Given the description of an element on the screen output the (x, y) to click on. 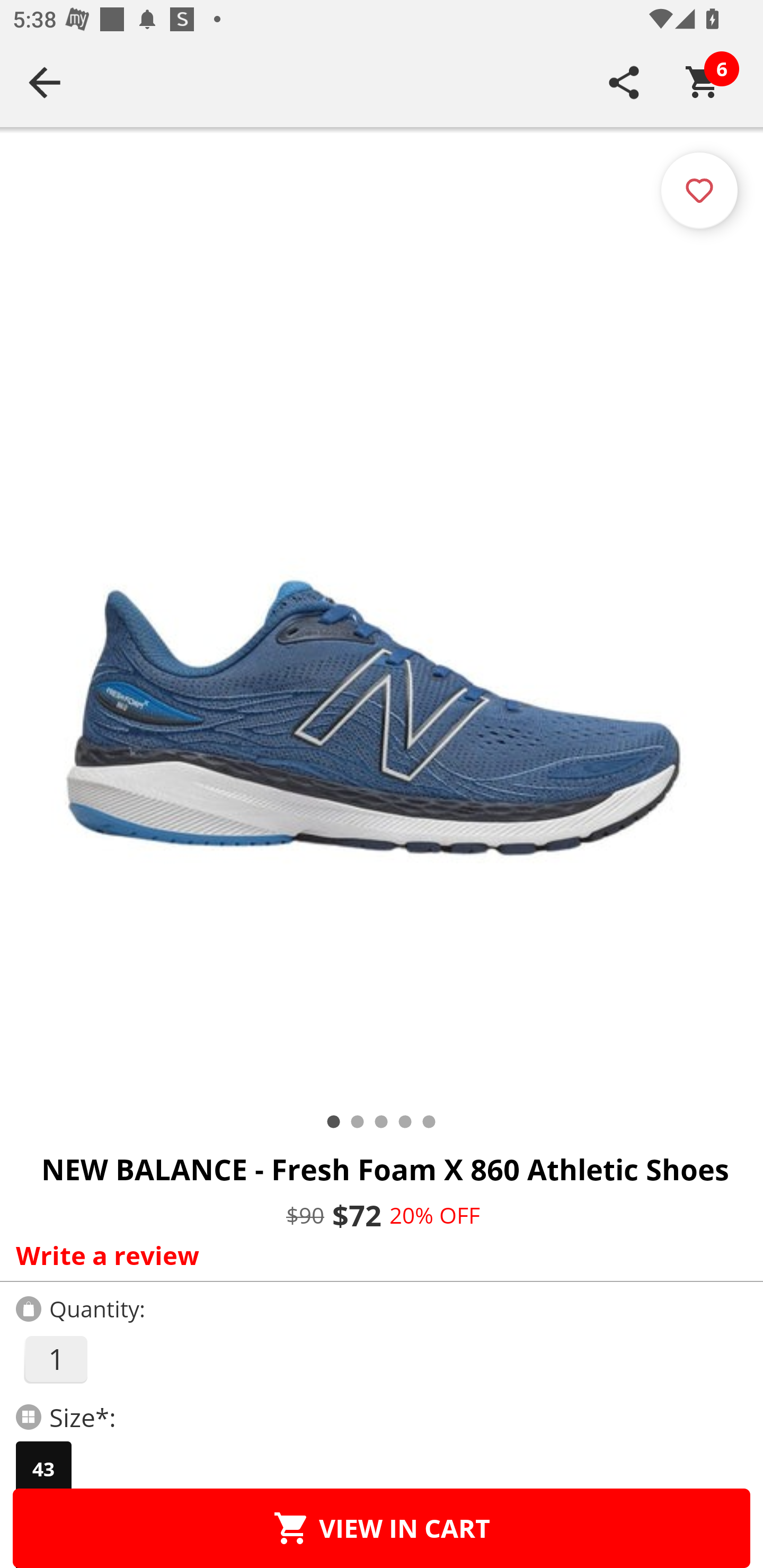
Navigate up (44, 82)
SHARE (623, 82)
Cart (703, 81)
Write a review (377, 1255)
1 (55, 1358)
43 (43, 1468)
VIEW IN CART (381, 1528)
